Given the description of an element on the screen output the (x, y) to click on. 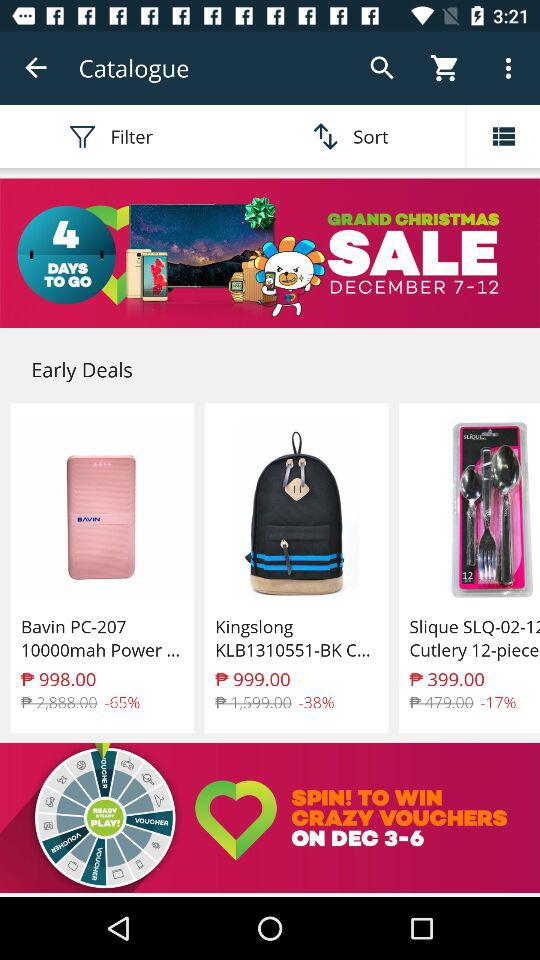
launch icon next to catalogue icon (36, 68)
